Given the description of an element on the screen output the (x, y) to click on. 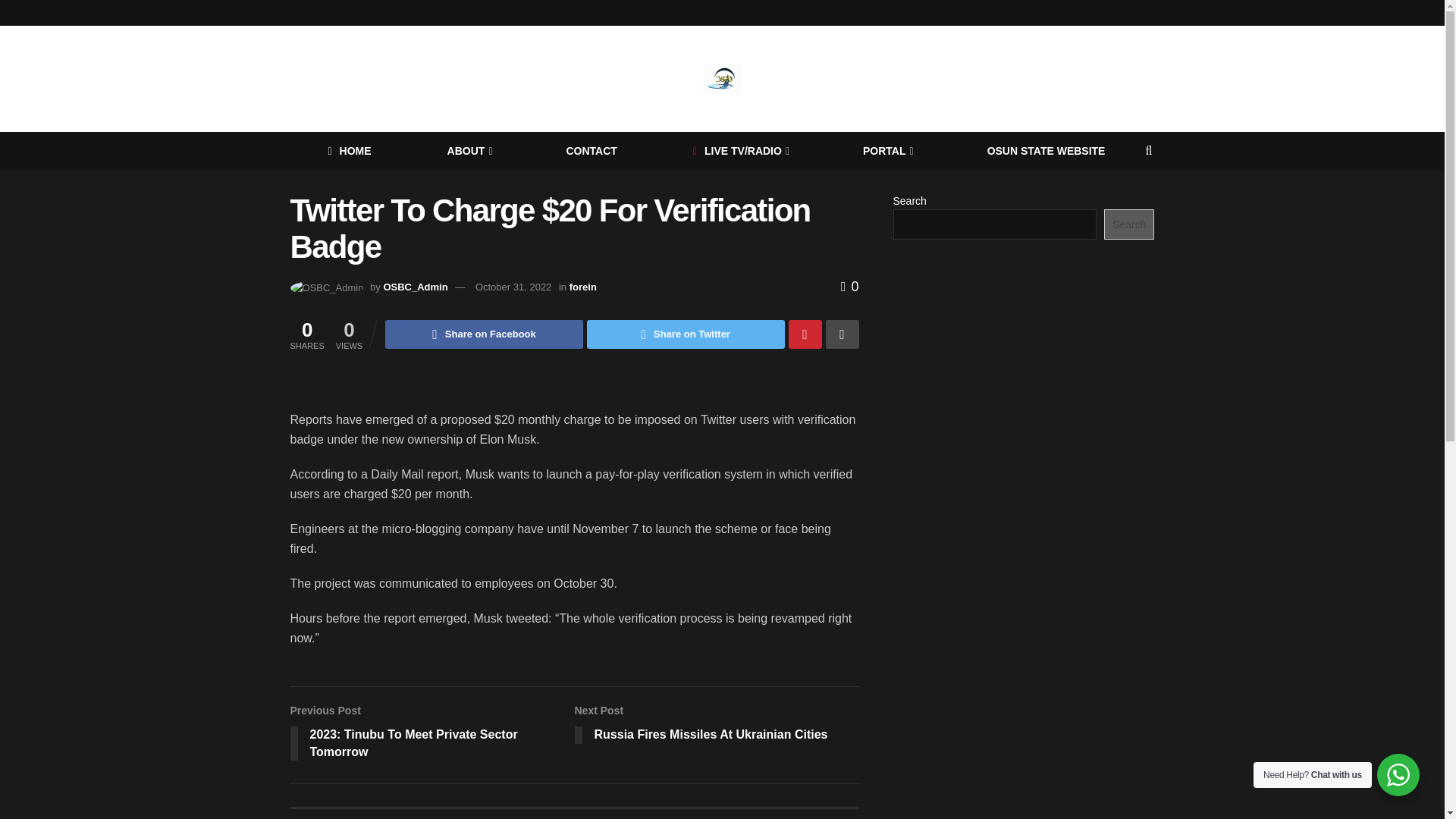
PORTAL (887, 150)
HOME (349, 150)
OSUN STATE WEBSITE (1045, 150)
CONTACT (590, 150)
ABOUT (468, 150)
